Given the description of an element on the screen output the (x, y) to click on. 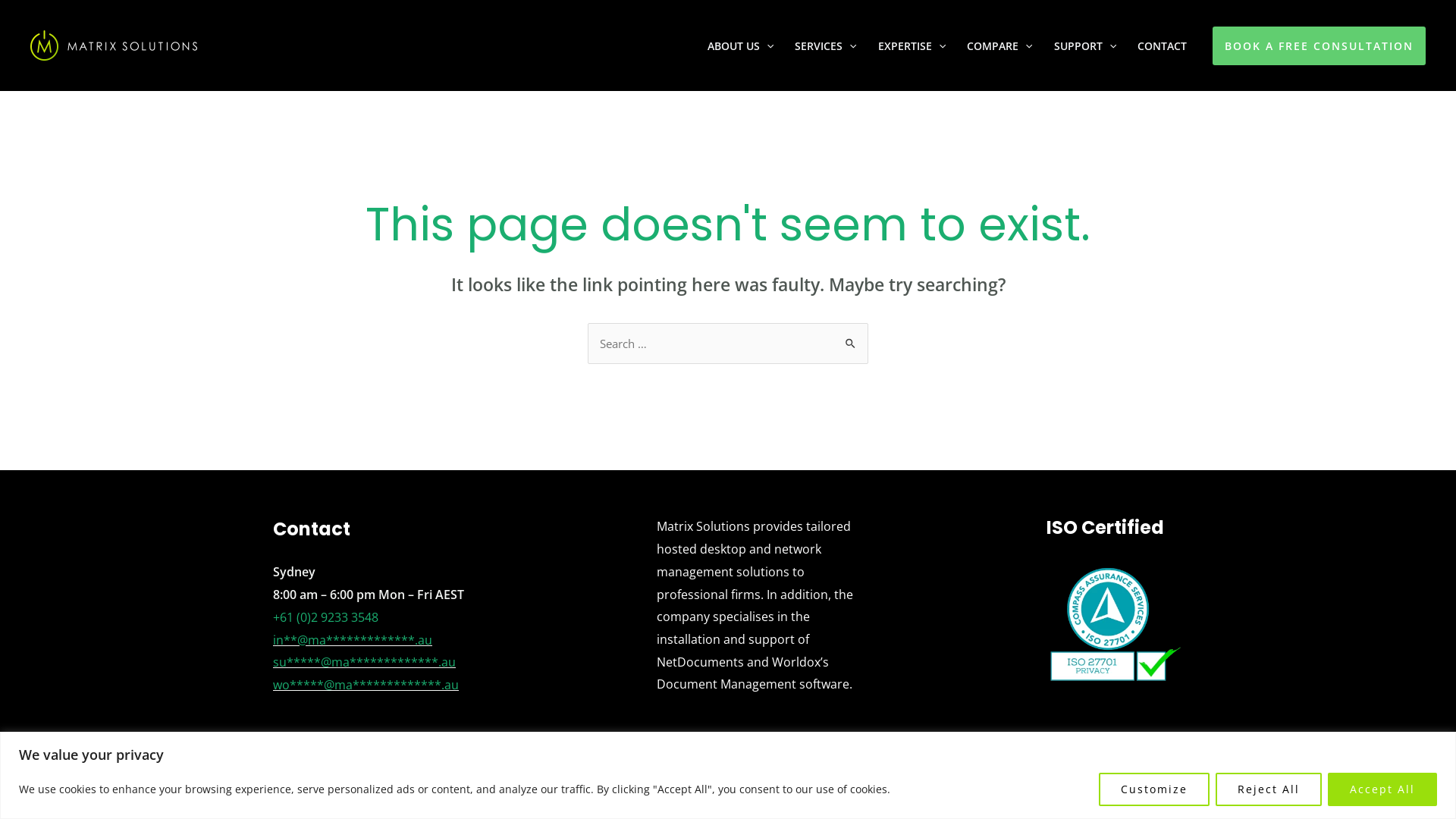
Blogs Element type: text (645, 782)
COMPARE Element type: text (999, 45)
in**@ma*************.au Element type: text (352, 639)
ABOUT US Element type: text (740, 45)
wo*****@ma*************.au Element type: text (365, 684)
+61 (0)2 9233 3548 Element type: text (325, 616)
EXPERTISE Element type: text (911, 45)
su*****@ma*************.au Element type: text (364, 661)
Orka Socials Element type: text (1150, 782)
Customize Element type: text (1153, 788)
Terms and Conditions Element type: text (414, 782)
Reject All Element type: text (1268, 788)
BOOK A FREE CONSULTATION Element type: text (1318, 44)
Privacy Policy Element type: text (309, 782)
SERVICES Element type: text (825, 45)
CONTACT Element type: text (1161, 45)
Matrix Solutions Element type: text (998, 782)
Master Service Agreement Element type: text (551, 782)
Search Element type: text (851, 338)
SUPPORT Element type: text (1084, 45)
Accept All Element type: text (1382, 788)
